Given the description of an element on the screen output the (x, y) to click on. 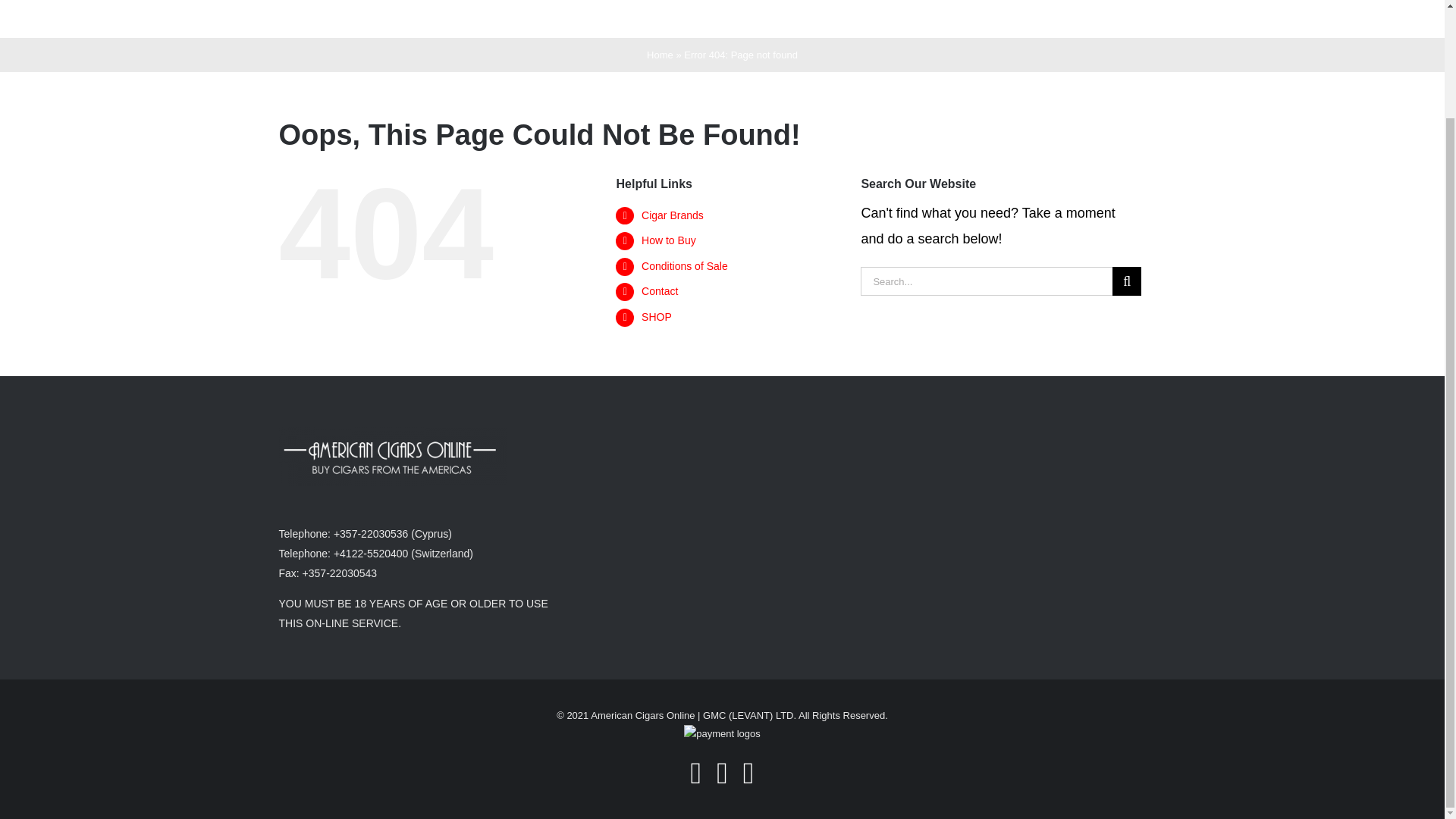
Home (659, 54)
Contact (660, 291)
SHOP (656, 316)
Conditions of Sale (685, 265)
How to Buy (789, 18)
Log In (1034, 37)
SHOP (1090, 18)
Conditions of Sale (899, 18)
Contact (1000, 18)
Cigar Brands (672, 215)
